Given the description of an element on the screen output the (x, y) to click on. 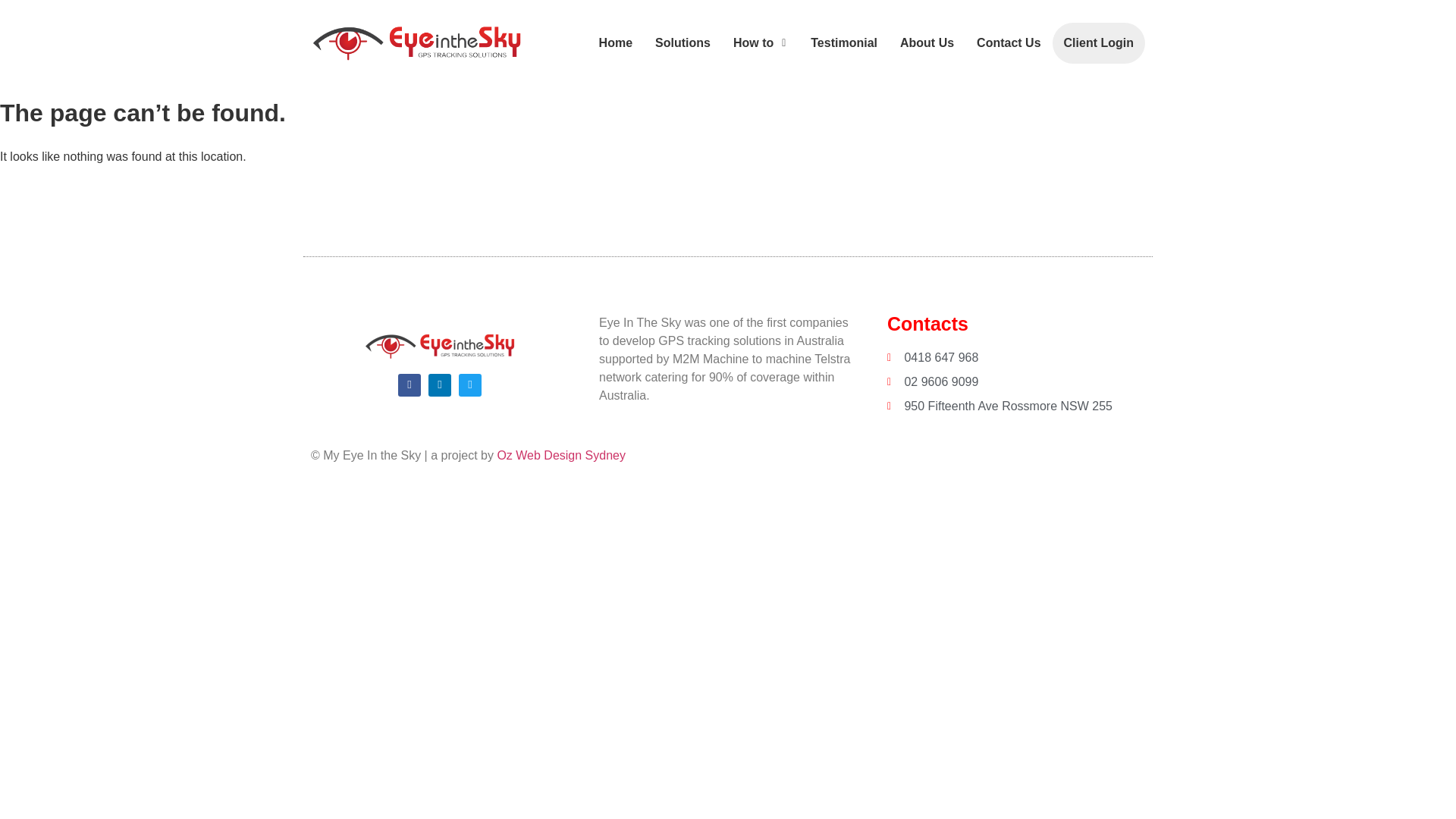
How to Element type: text (748, 42)
Testimonial Element type: text (838, 42)
About Us Element type: text (920, 42)
eye in the sky logo Element type: hover (439, 345)
Client Login Element type: text (1092, 42)
Contact Us Element type: text (1002, 42)
Home Element type: text (609, 42)
Oz Web Design Sydney Element type: text (560, 454)
Solutions Element type: text (676, 42)
